Given the description of an element on the screen output the (x, y) to click on. 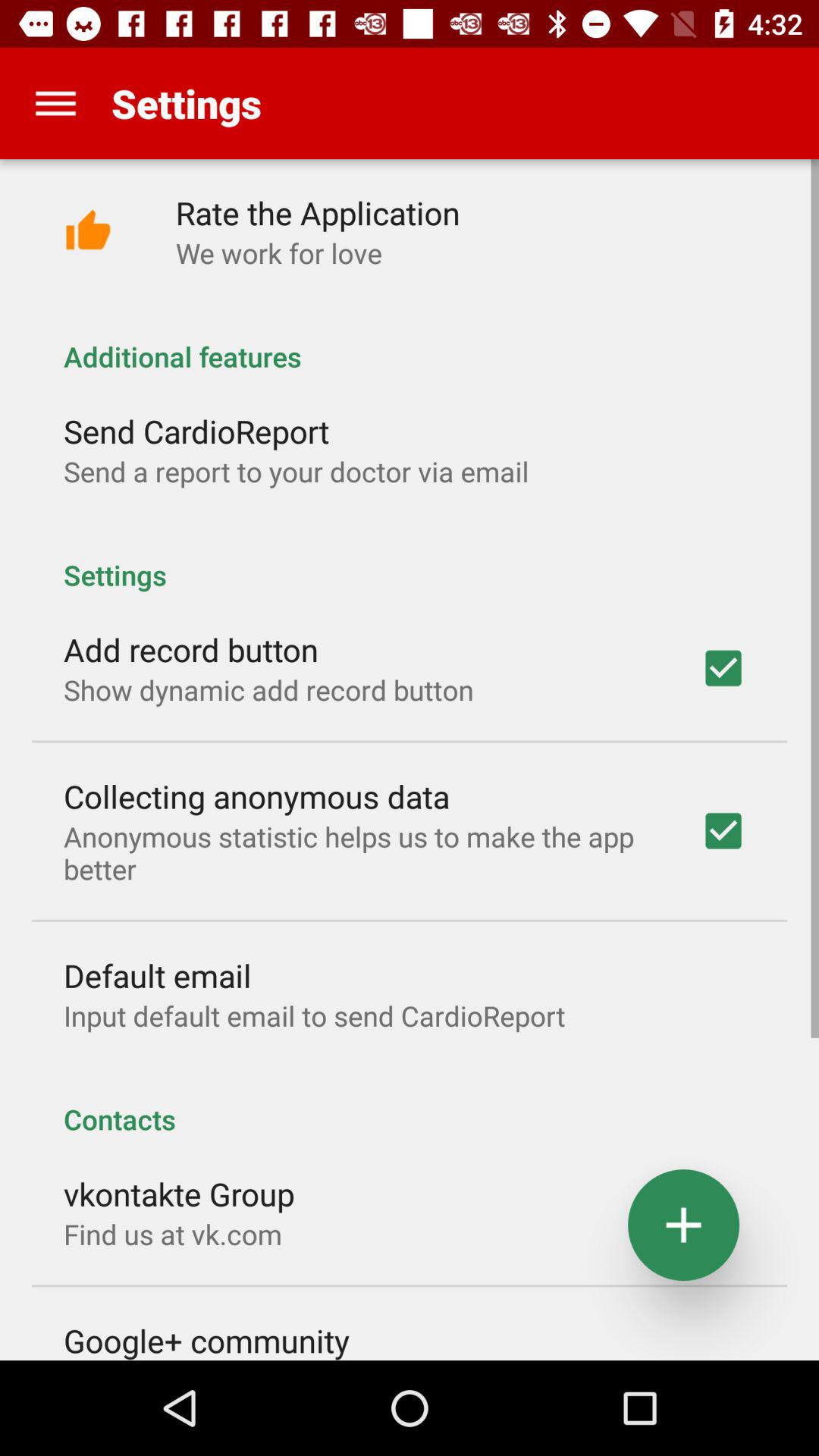
launch app below the add record button (268, 689)
